Given the description of an element on the screen output the (x, y) to click on. 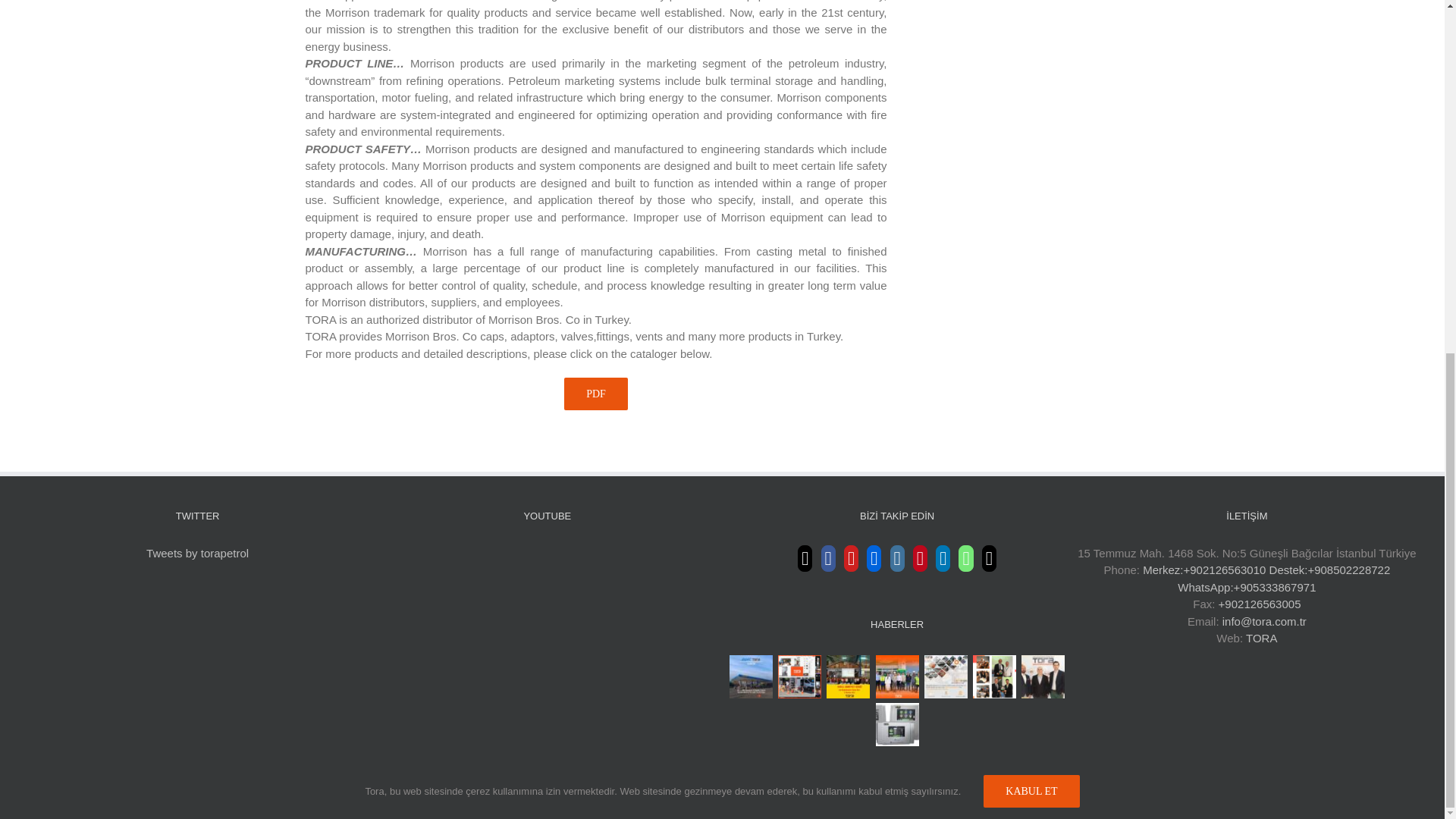
Mail (988, 558)
Tweets by torapetrol (197, 553)
Instagram (896, 558)
Flickr (873, 558)
PDF (595, 393)
Pinterest (919, 558)
YouTube (851, 558)
Whatsapp (965, 558)
Twitter (804, 558)
Facebook (828, 558)
LinkedIn (943, 558)
